Given the description of an element on the screen output the (x, y) to click on. 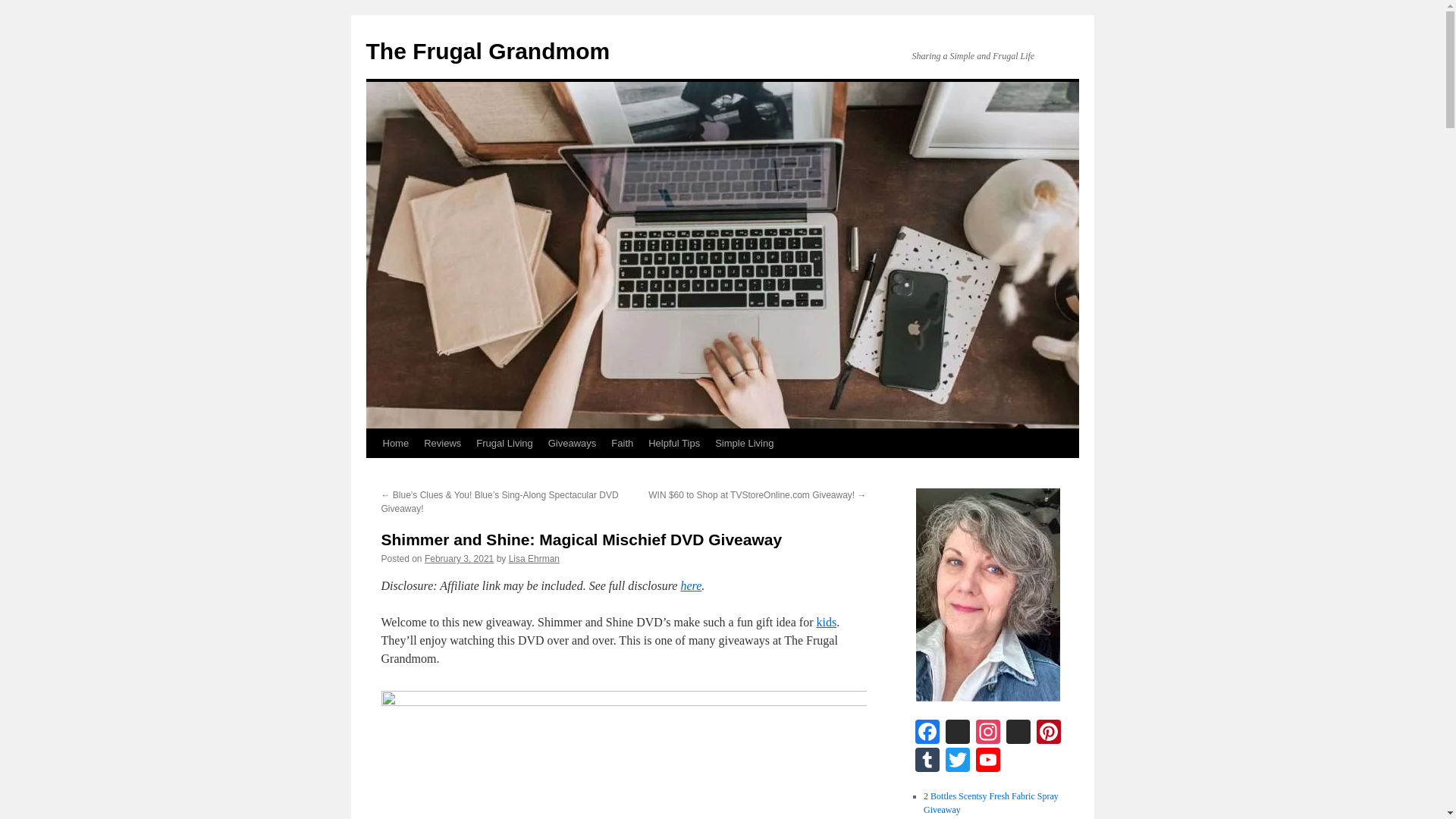
Pinterest (1047, 733)
Tumblr (926, 761)
Helpful Tips (673, 443)
Giveaways (572, 443)
View all posts by Lisa Ehrman (533, 558)
YouTube (987, 761)
Reviews (442, 443)
Twitter (957, 761)
Simple Living (743, 443)
The Frugal Grandmom (487, 50)
4:33 pm (459, 558)
Home (395, 443)
here (690, 585)
kids (825, 621)
Faith (622, 443)
